Given the description of an element on the screen output the (x, y) to click on. 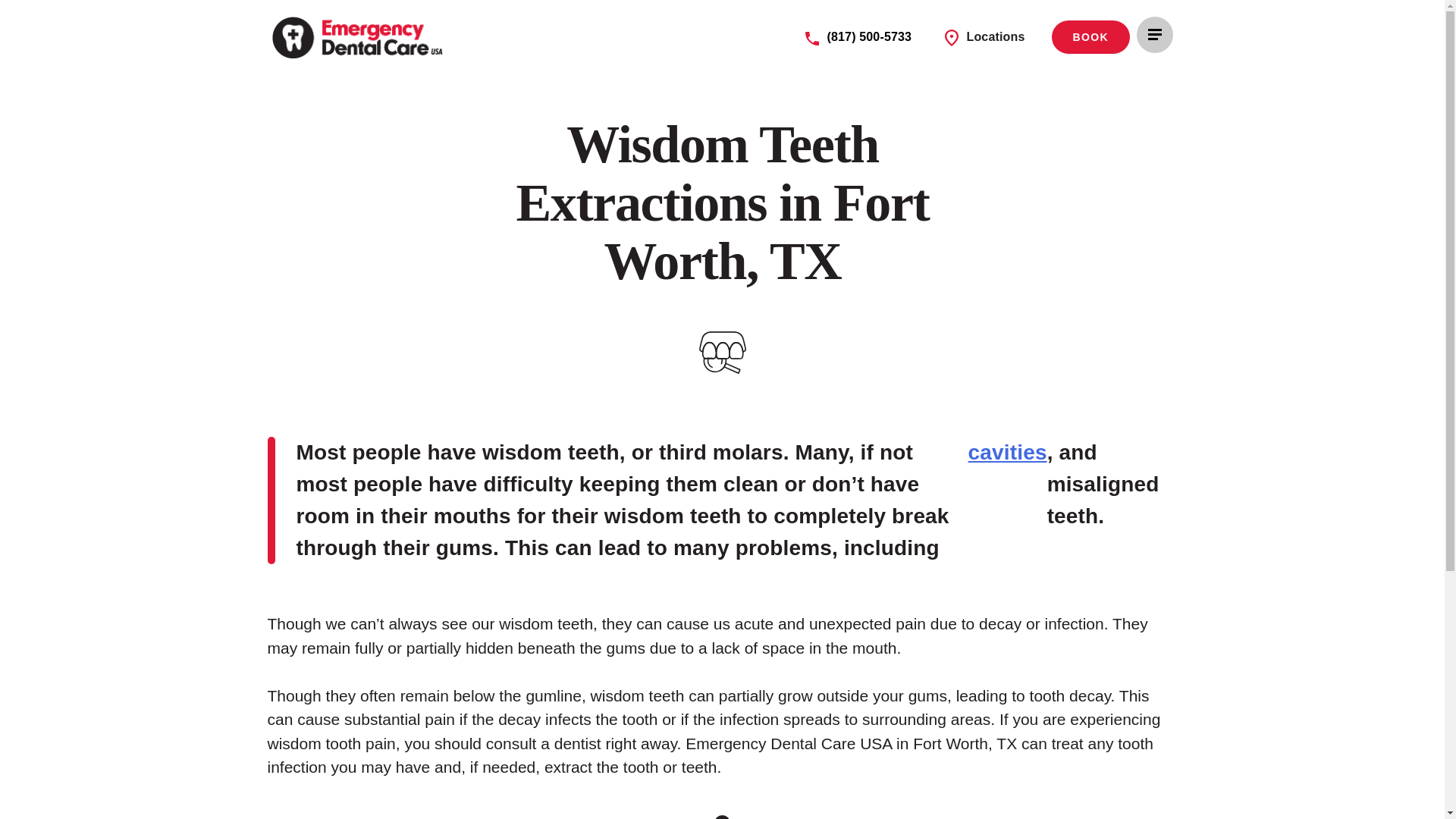
cavities (1007, 500)
Locations (984, 37)
Fort Worth Emergency Dental Care USA (358, 37)
BOOK (1090, 37)
